Given the description of an element on the screen output the (x, y) to click on. 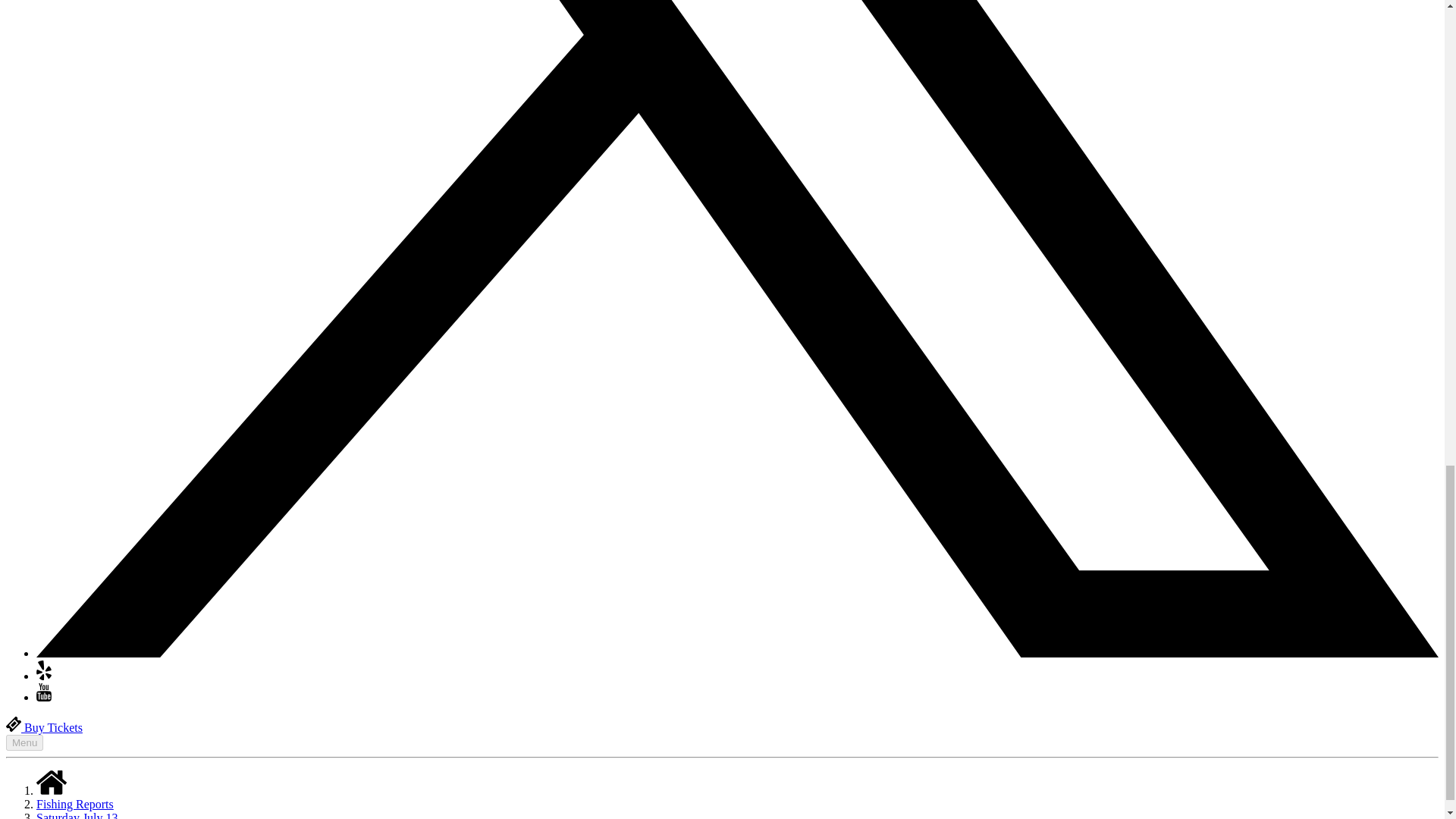
Ticket Buy Tickets (43, 727)
Yelp (43, 670)
Fishing Reports (74, 803)
YouTube (43, 697)
Menu (24, 742)
Yelp (43, 675)
YouTube (43, 692)
Home (51, 789)
Home (51, 782)
Ticket (13, 724)
